Given the description of an element on the screen output the (x, y) to click on. 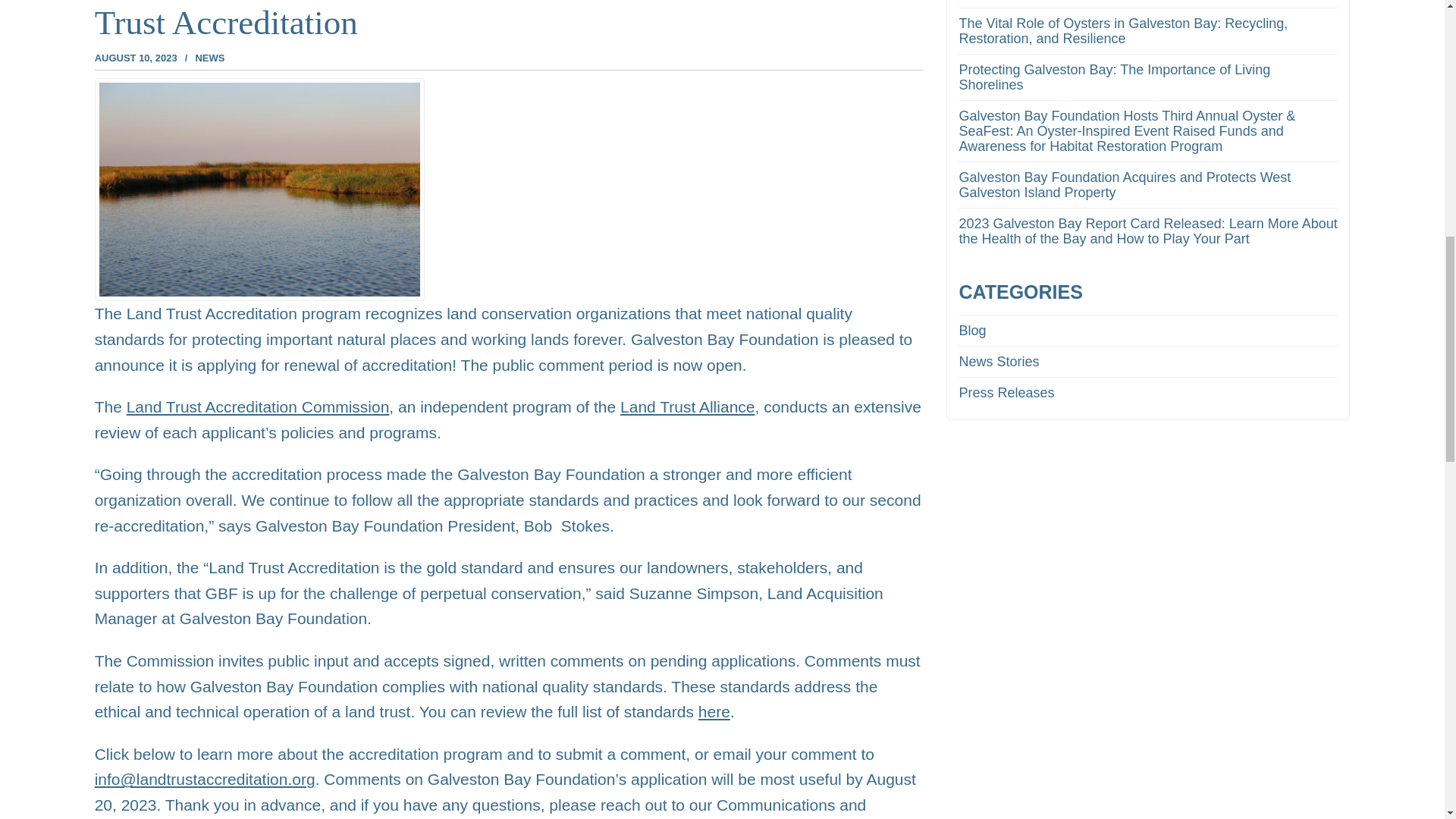
here (714, 711)
Land Trust Alliance (687, 406)
Land Trust Accreditation Commission (258, 406)
